Given the description of an element on the screen output the (x, y) to click on. 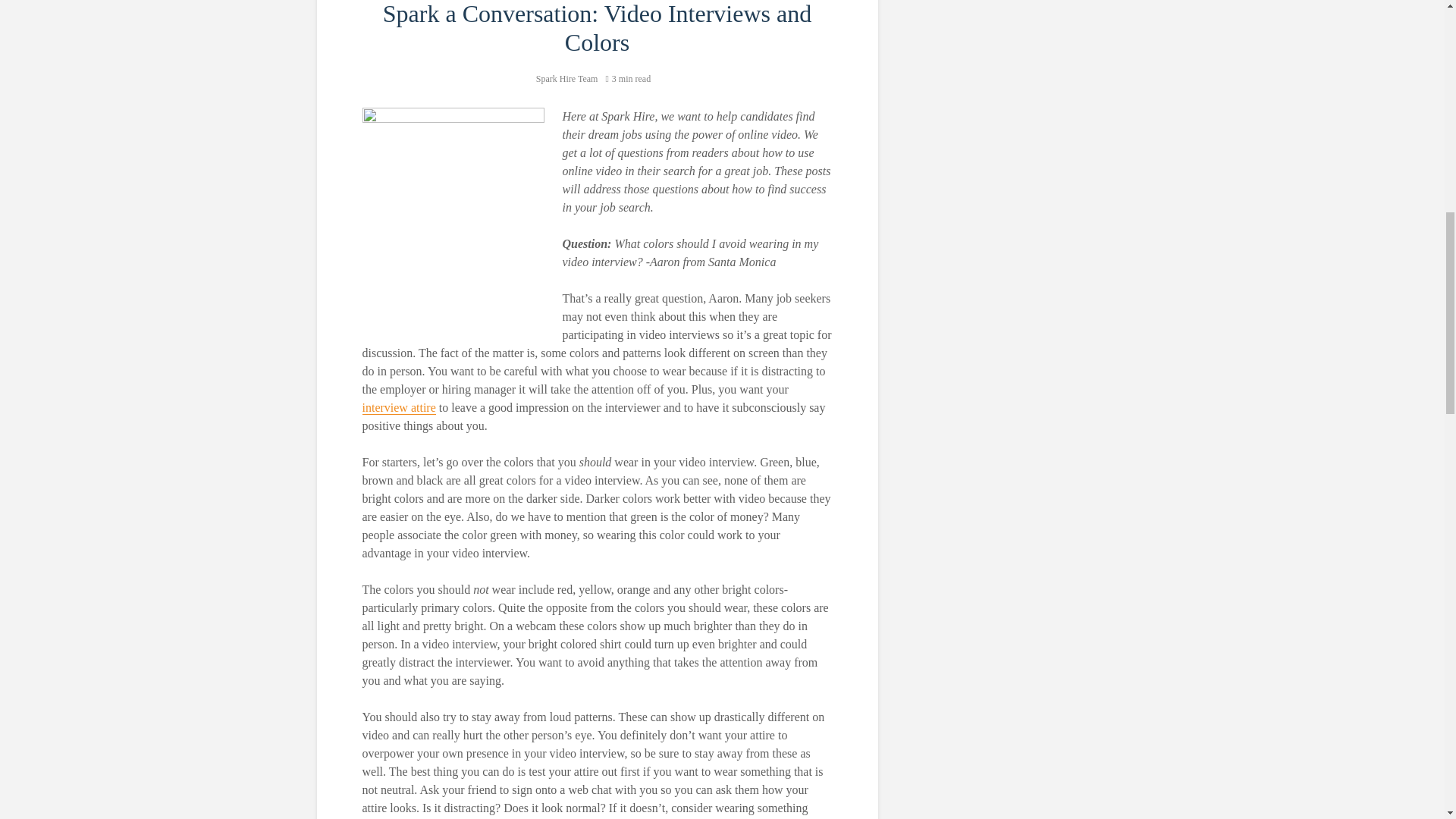
How to Dress For an Online Interivew (398, 407)
Spark Hire Team (566, 78)
